Given the description of an element on the screen output the (x, y) to click on. 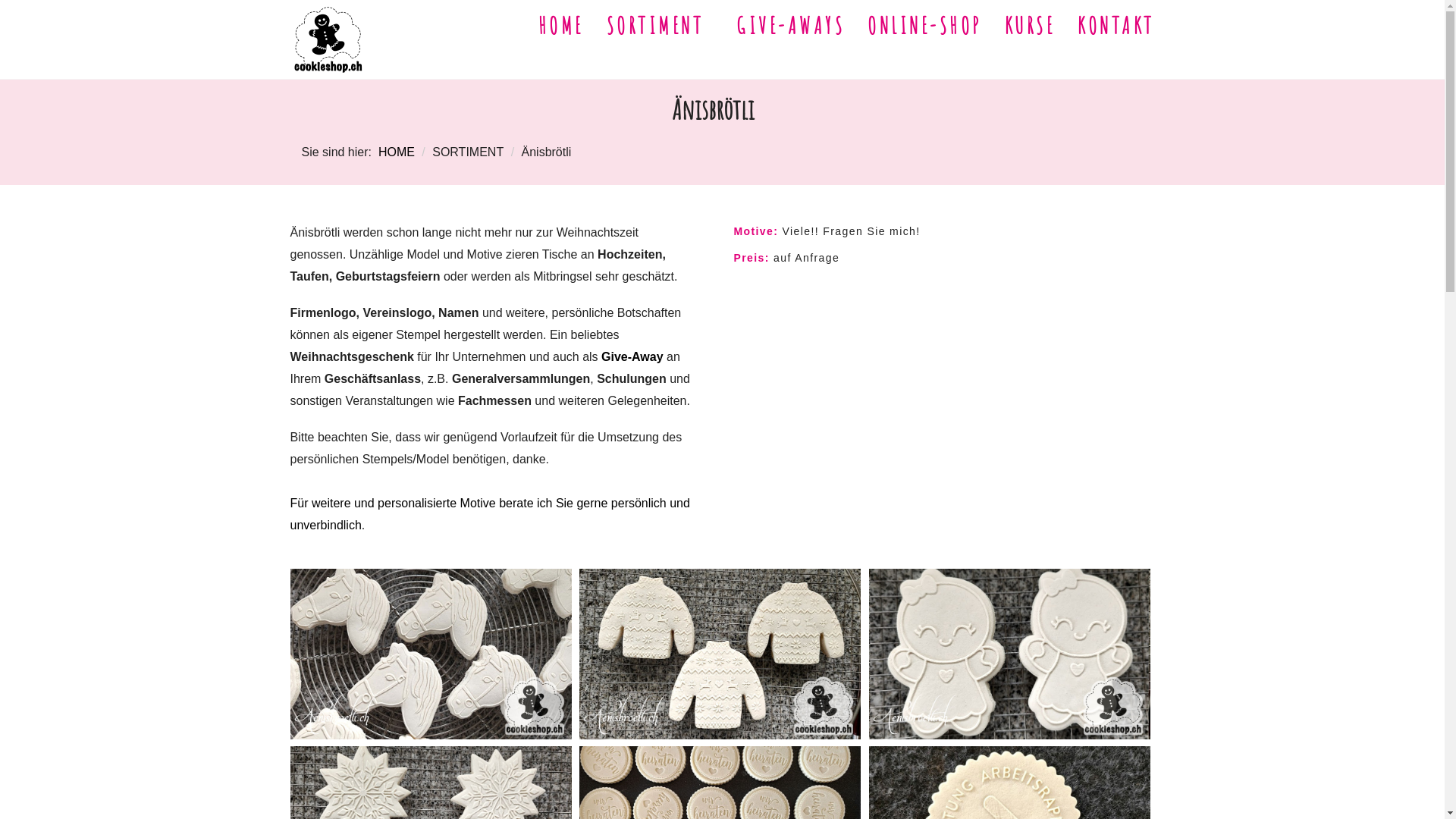
KURSE Element type: text (1029, 25)
KONTAKT Element type: text (1116, 25)
Give-Away Element type: text (632, 356)
HOME Element type: text (560, 25)
GIVE-AWAYS Element type: text (790, 25)
HOME Element type: text (396, 151)
SORTIMENT Element type: text (659, 25)
ONLINE-SHOP Element type: text (924, 25)
